Given the description of an element on the screen output the (x, y) to click on. 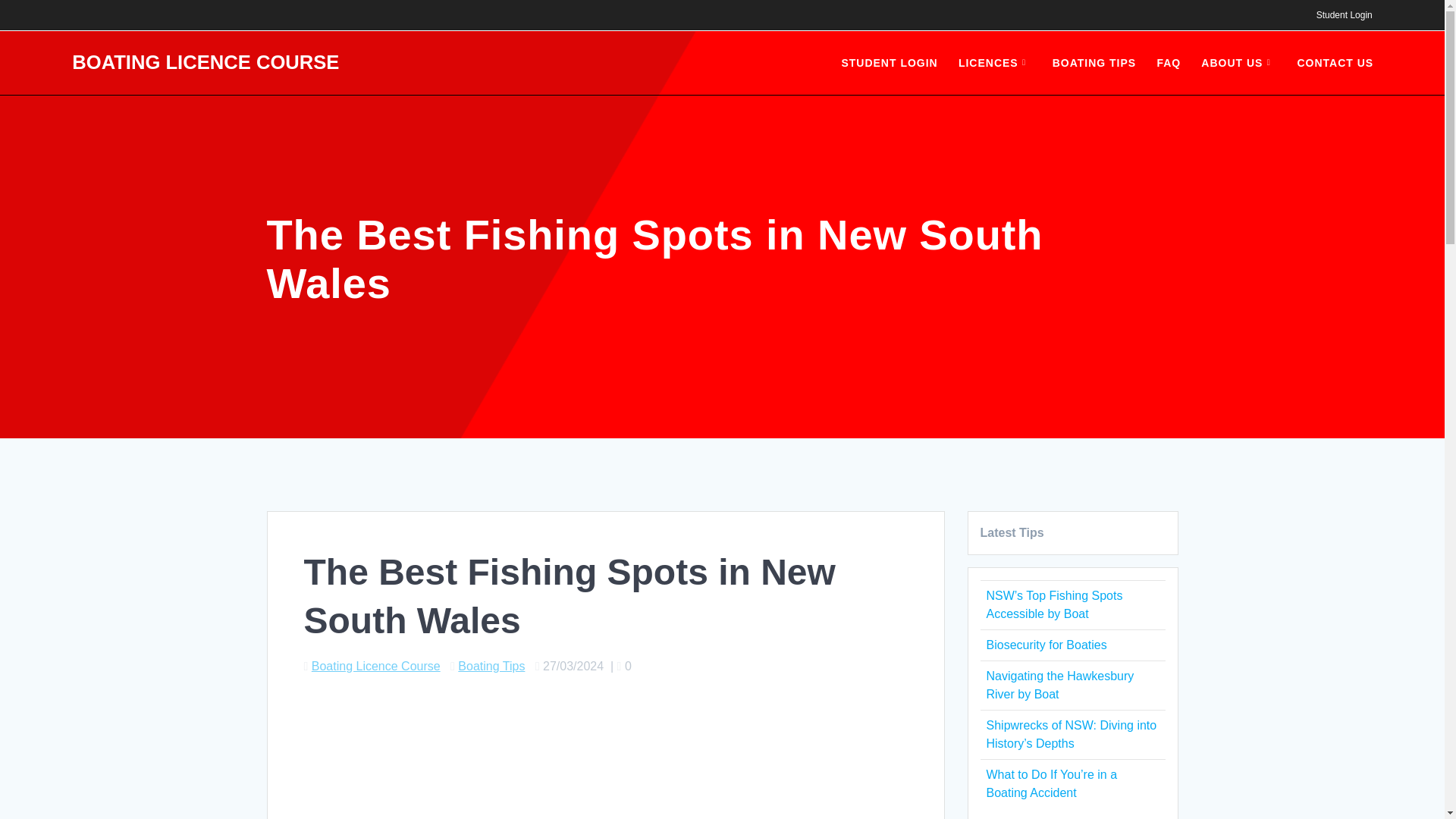
BOATING LICENCE COURSE (205, 62)
STUDENT LOGIN (889, 63)
Posts by Boating Licence Course (376, 666)
Student Login (1344, 14)
CONTACT US (1335, 63)
Navigating the Hawkesbury River by Boat (1059, 685)
Boating Licence Course (376, 666)
ABOUT US (1238, 63)
Boating Tips (491, 666)
BOATING TIPS (1094, 63)
